Given the description of an element on the screen output the (x, y) to click on. 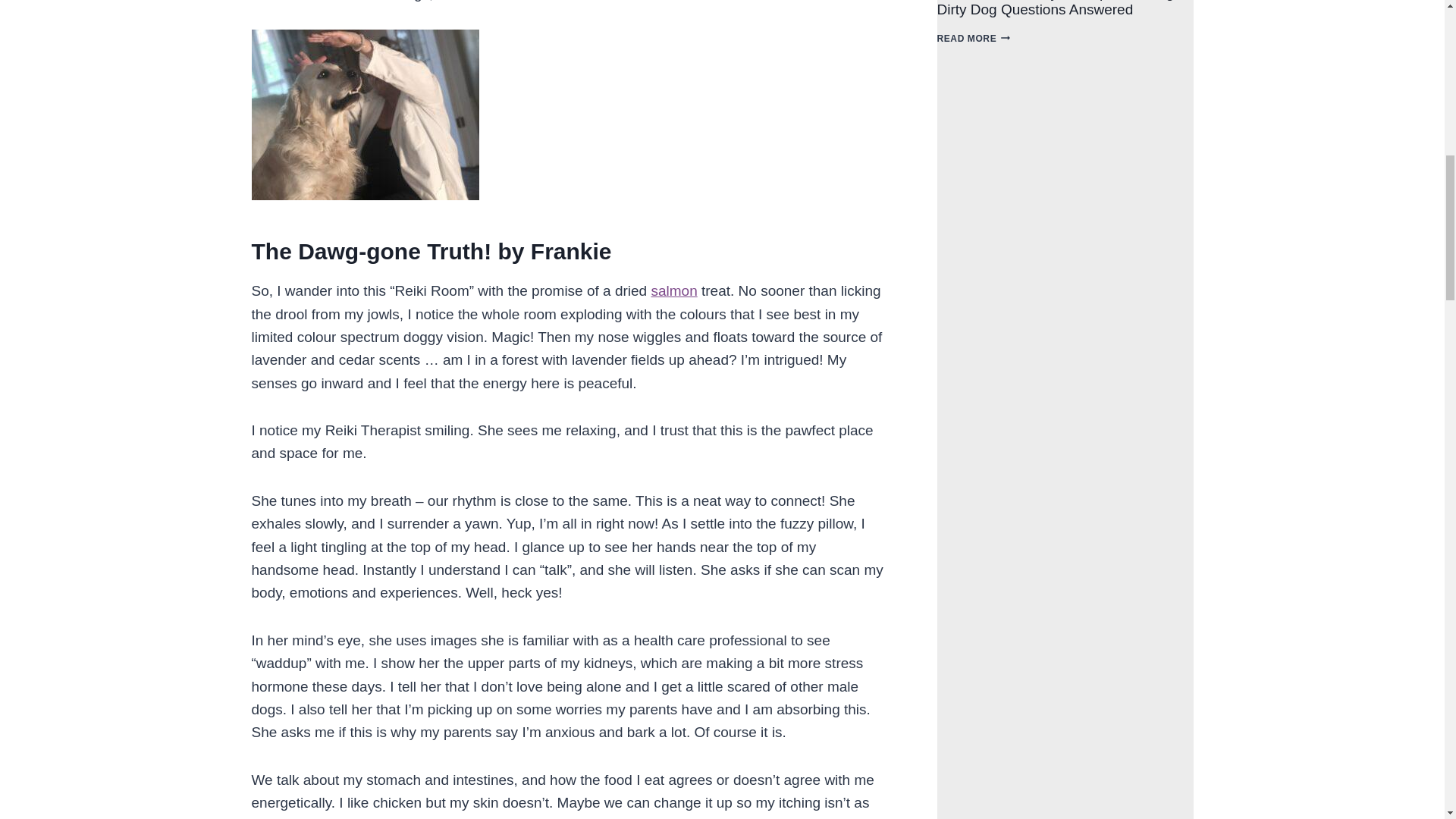
salmon (673, 290)
How Do Animals Experience Reiki? (365, 114)
this article. (537, 0)
